Given the description of an element on the screen output the (x, y) to click on. 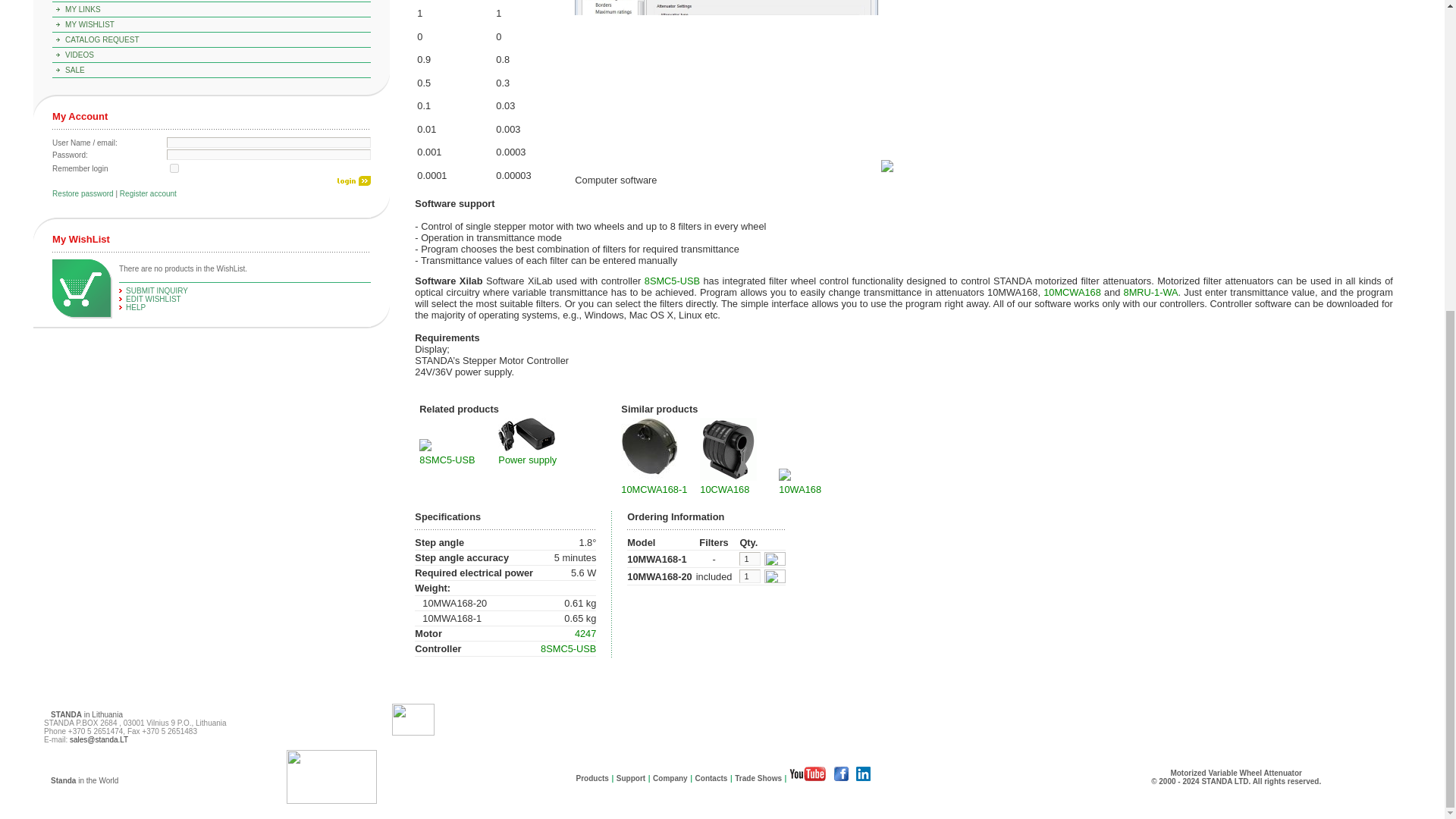
1 (174, 167)
1 (749, 558)
1 (749, 576)
